Given the description of an element on the screen output the (x, y) to click on. 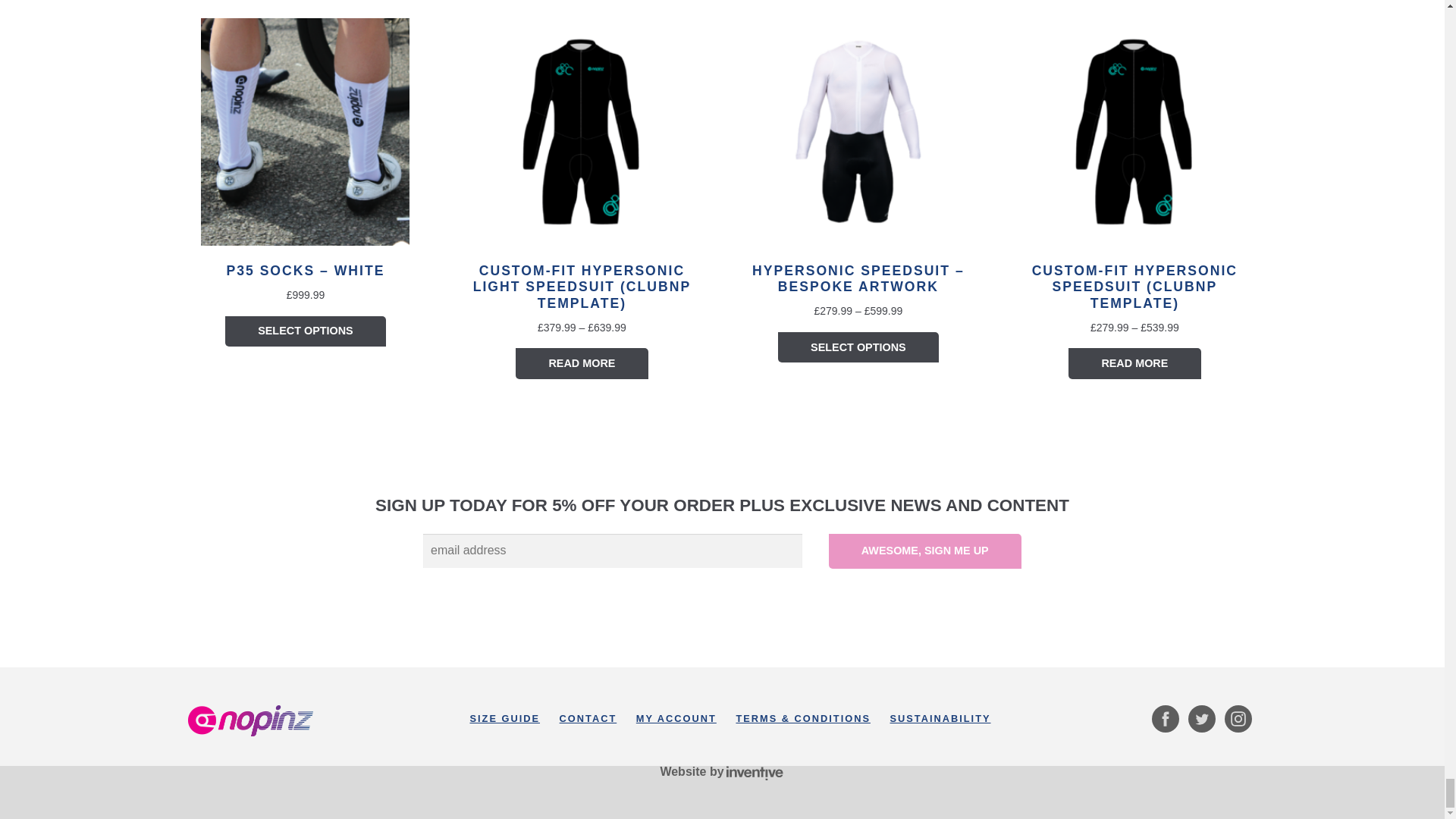
Awesome, sign me up (925, 550)
Twitter (1201, 718)
Instagram (1238, 718)
Facebook (1165, 718)
